Given the description of an element on the screen output the (x, y) to click on. 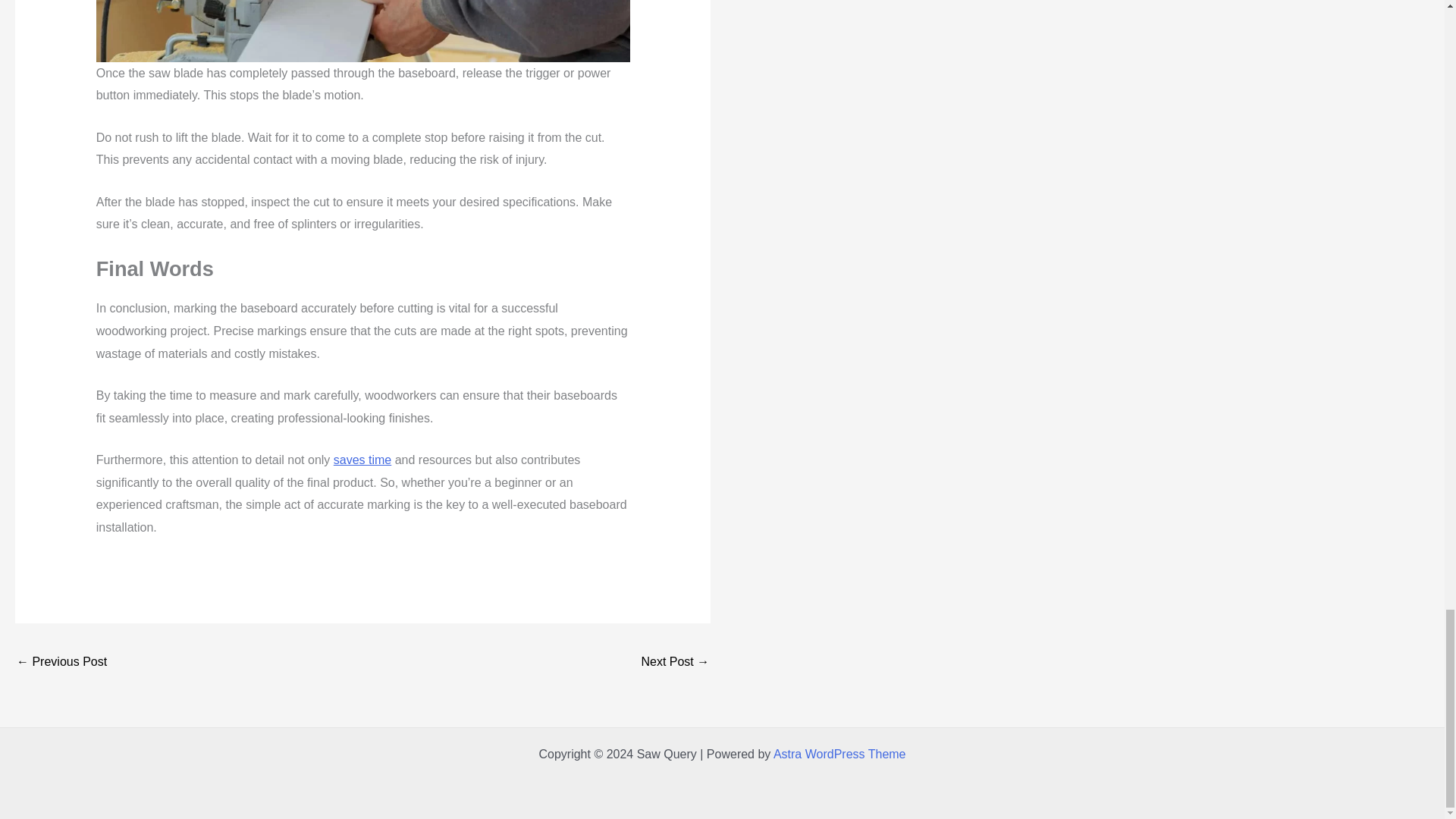
Can You Cut PVC with a Miter Saw? (674, 663)
Astra WordPress Theme (839, 753)
saves time (362, 459)
Can You Cut Plexiglass with a Table Saw? (61, 663)
